Given the description of an element on the screen output the (x, y) to click on. 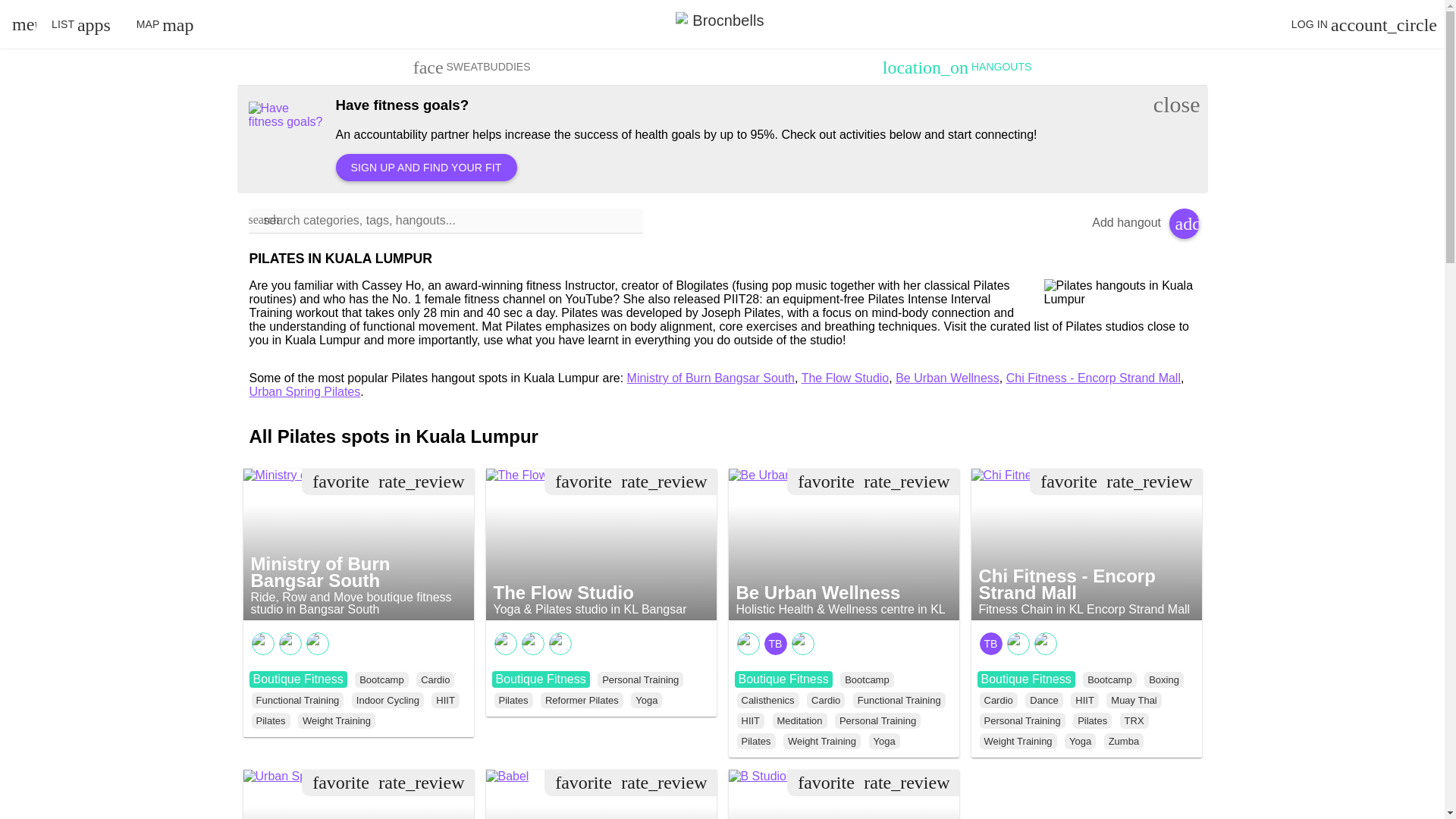
Be Urban Wellness (786, 475)
MAP map (165, 23)
Chi Fitness - Encorp Strand Mall (1064, 475)
Urban Spring Pilates (304, 775)
The Flow Studio (534, 475)
Pilates hangouts in Kuala Lumpur (1119, 292)
menu (20, 24)
LIST apps (80, 23)
B Studios (760, 775)
Ministry of Burn Bangsar South (332, 475)
Babel (506, 775)
